Given the description of an element on the screen output the (x, y) to click on. 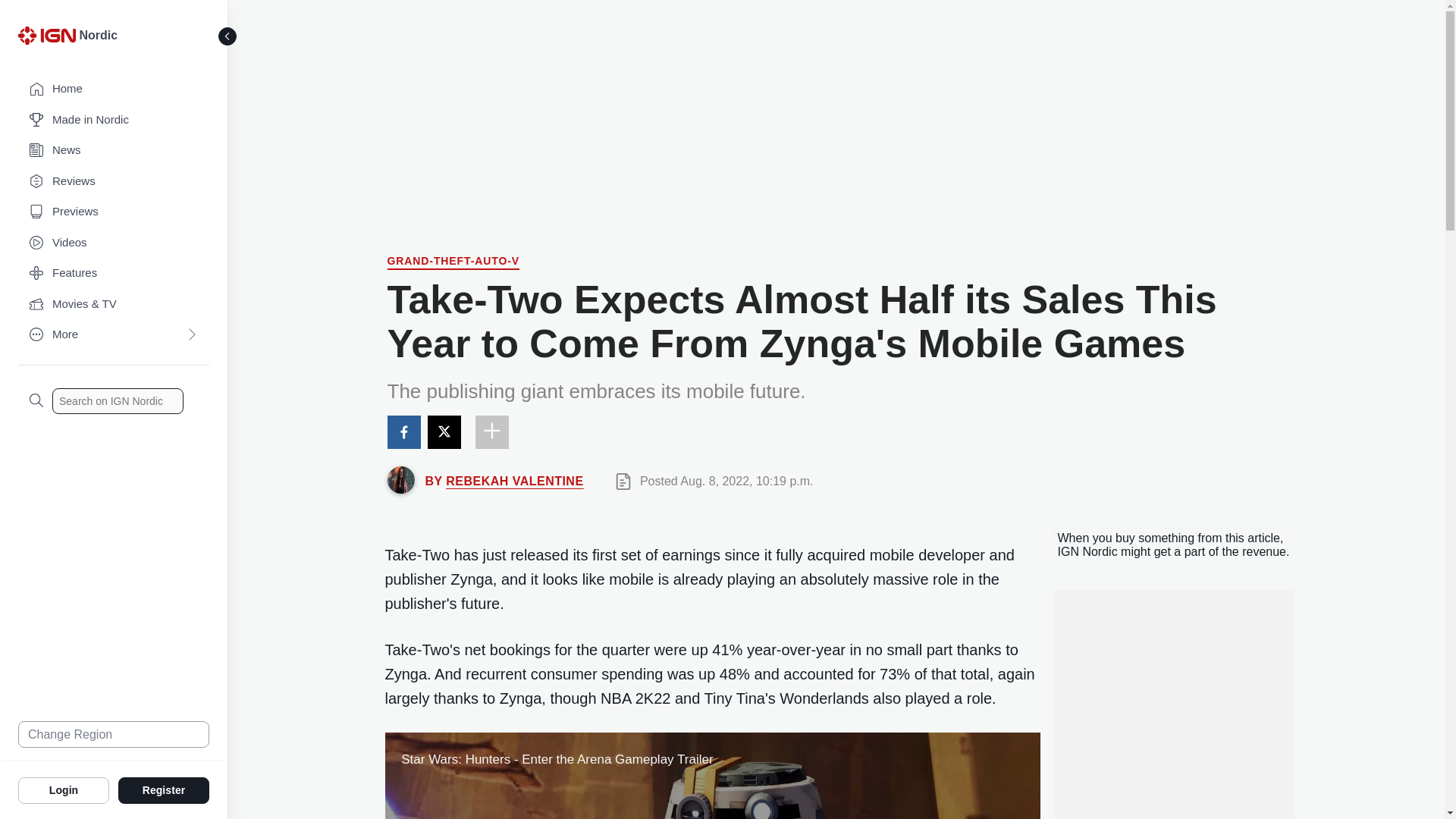
Previews (113, 211)
IGN Logo (48, 39)
More (113, 334)
Features (113, 273)
Reviews (113, 181)
GRAND-THEFT-AUTO-V (453, 262)
Home (113, 89)
grand-theft-auto-v (453, 262)
IGN Logo (46, 34)
REBEKAH VALENTINE (514, 481)
Videos (113, 242)
News (113, 150)
Toggle Sidebar (226, 36)
Register (163, 789)
Made in Nordic (113, 119)
